Given the description of an element on the screen output the (x, y) to click on. 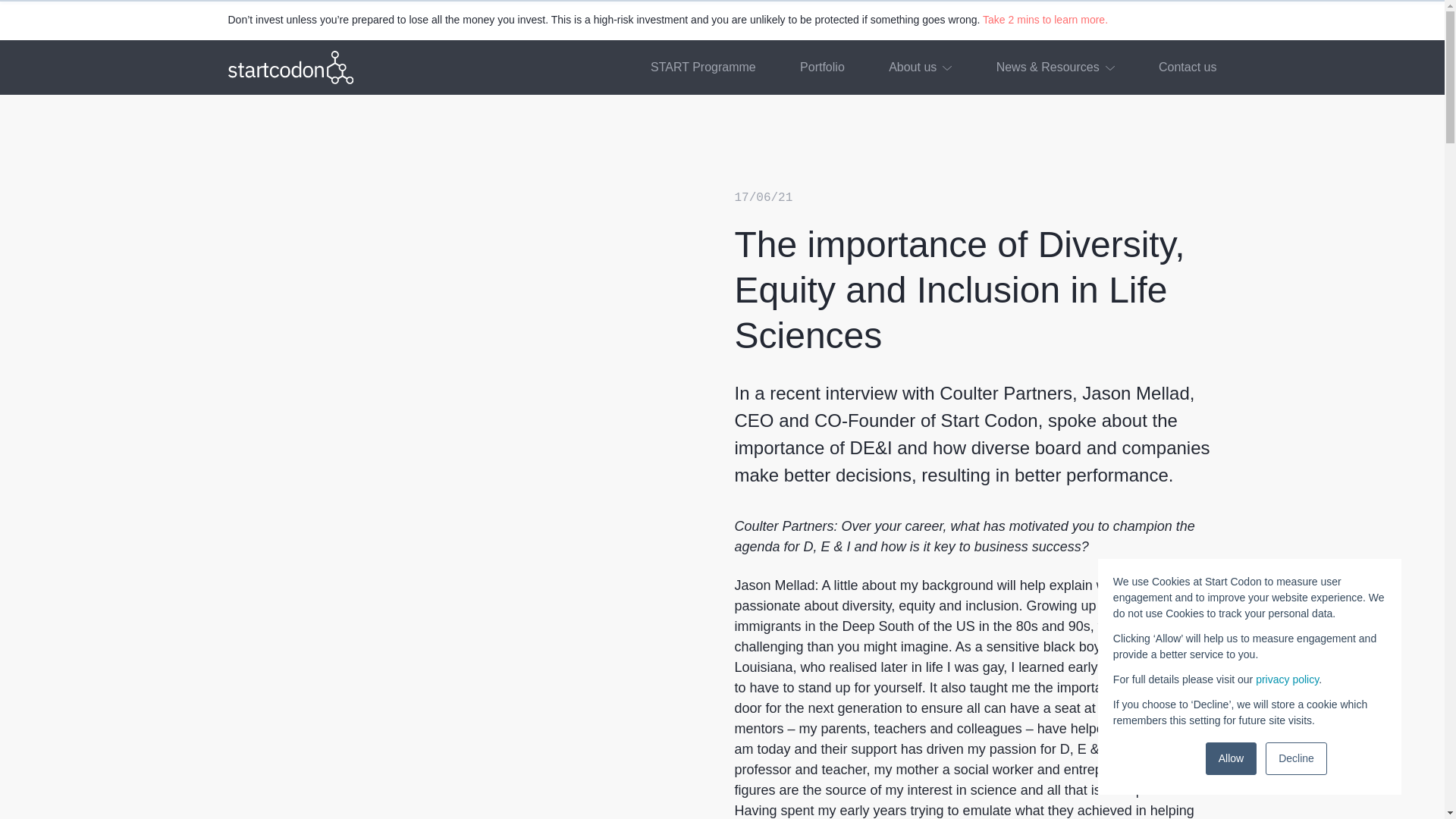
Start Codon Logo (289, 67)
privacy policy (1287, 679)
Portfolio (821, 66)
Allow (1230, 758)
START Programme (702, 66)
Start Codon Logo (290, 67)
Take 2 mins to learn more. (1045, 19)
Decline (1295, 758)
Contact us (1186, 66)
